Given the description of an element on the screen output the (x, y) to click on. 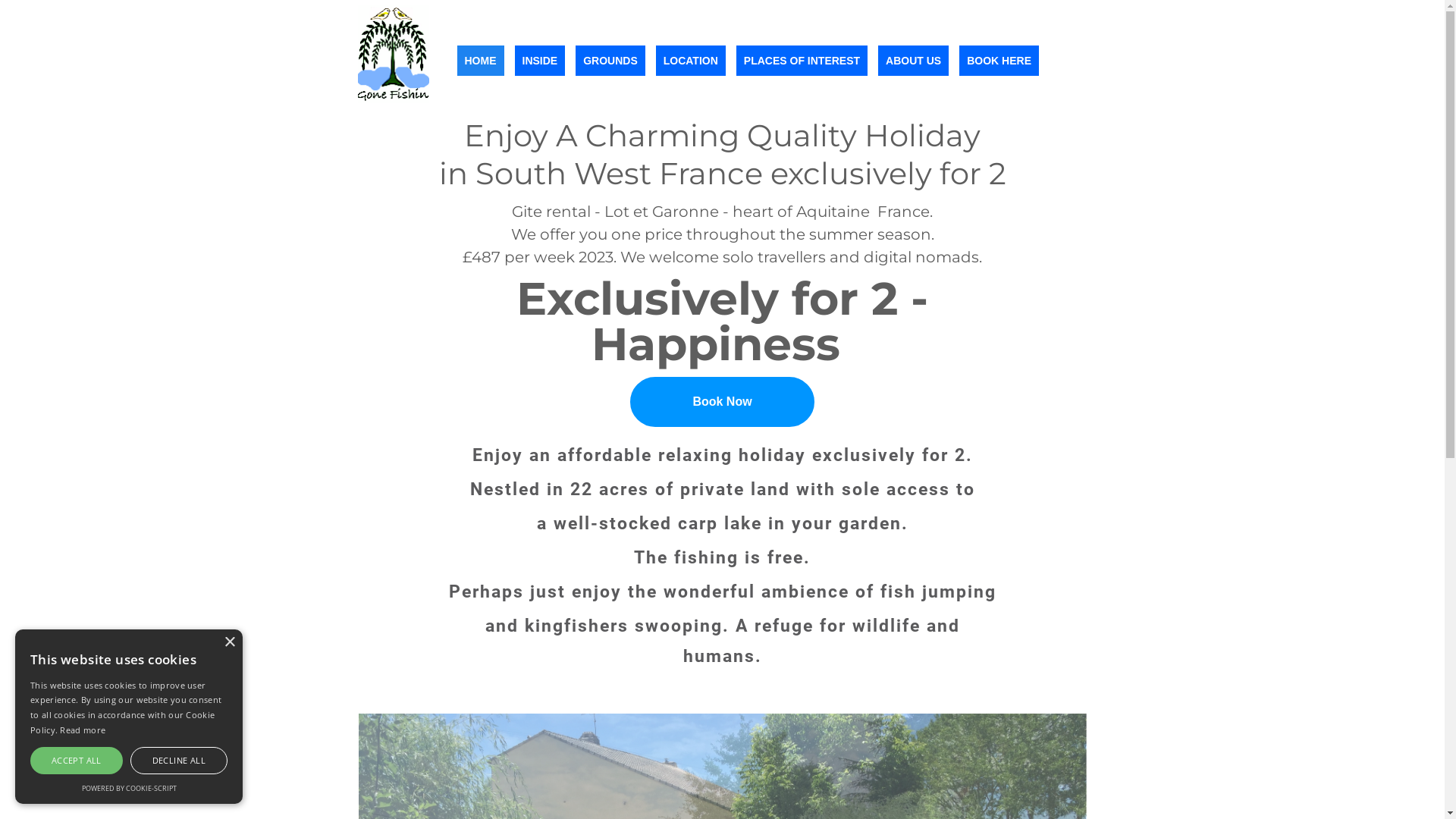
POWERED BY COOKIE-SCRIPT Element type: text (128, 788)
BOOK HERE Element type: text (998, 60)
Book Now Element type: text (721, 401)
Read more Element type: text (82, 729)
ABOUT US Element type: text (913, 60)
INSIDE Element type: text (539, 60)
HOME Element type: text (479, 60)
PLACES OF INTEREST Element type: text (801, 60)
GROUNDS Element type: text (610, 60)
LOCATION Element type: text (690, 60)
